Given the description of an element on the screen output the (x, y) to click on. 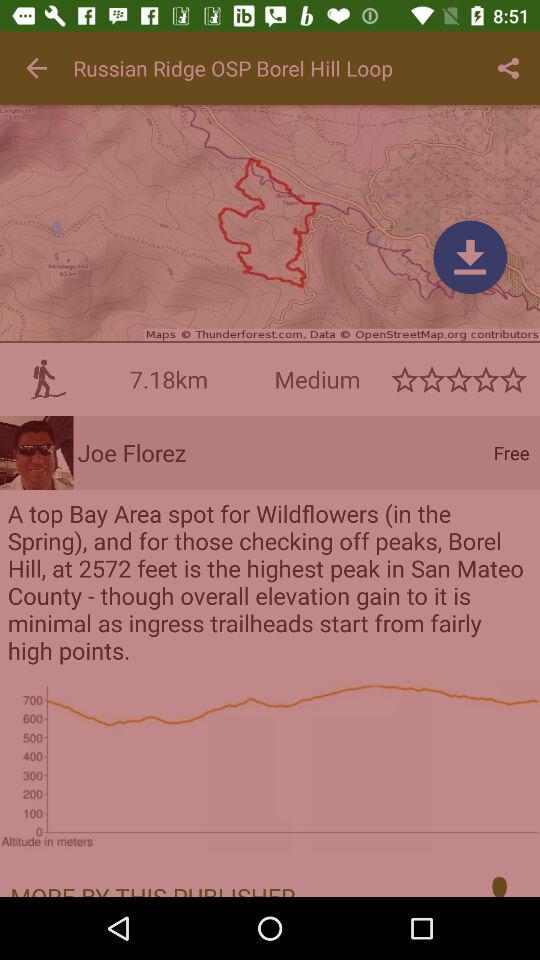
turn on icon next to russian ridge osp (508, 67)
